Given the description of an element on the screen output the (x, y) to click on. 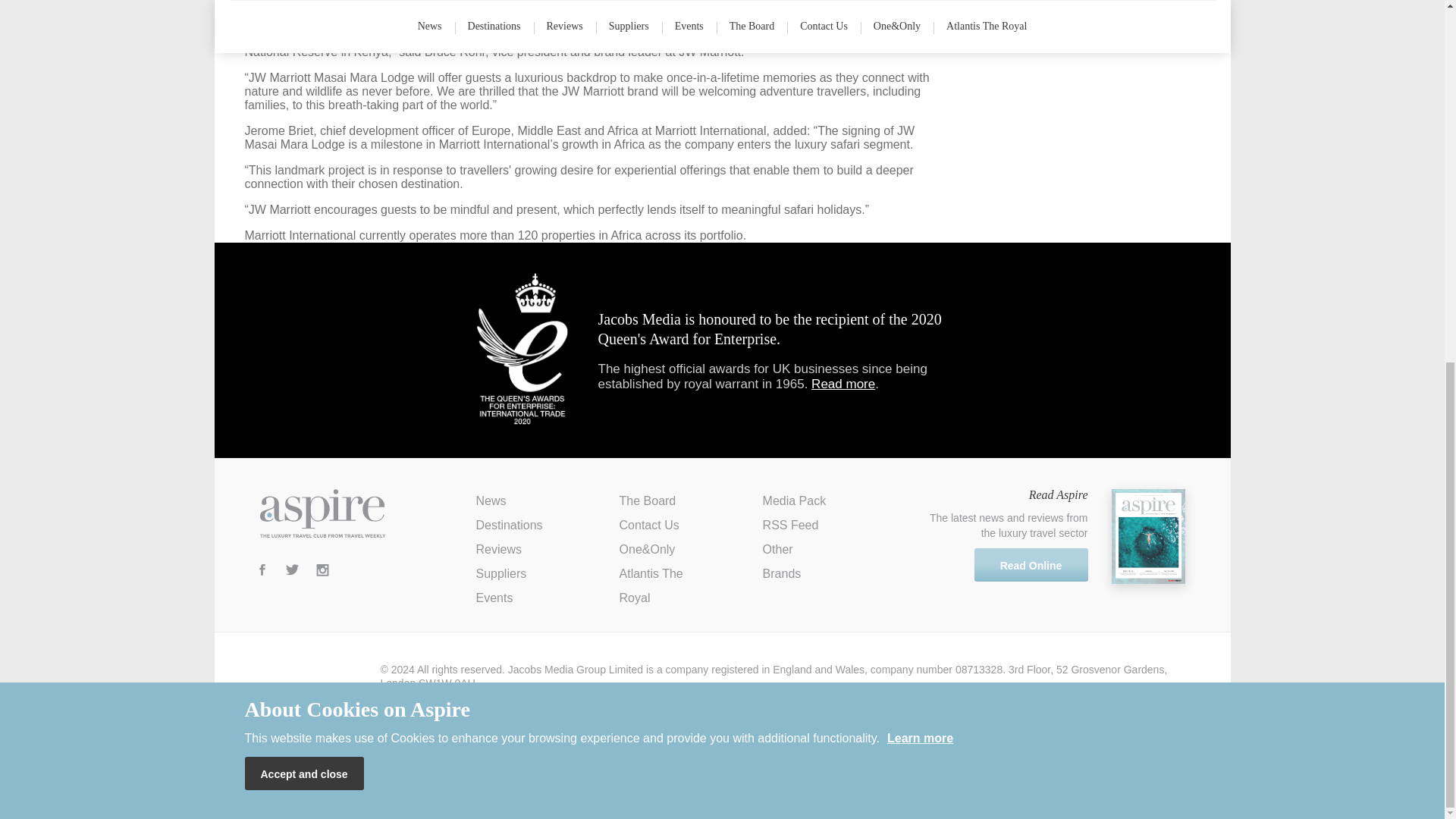
Reviews (498, 549)
Suppliers (501, 573)
Destinations (509, 524)
Aspire - The Luxury Travel Club from Travel Weekly (322, 512)
News (491, 500)
Read more (842, 383)
Events (494, 597)
